Given the description of an element on the screen output the (x, y) to click on. 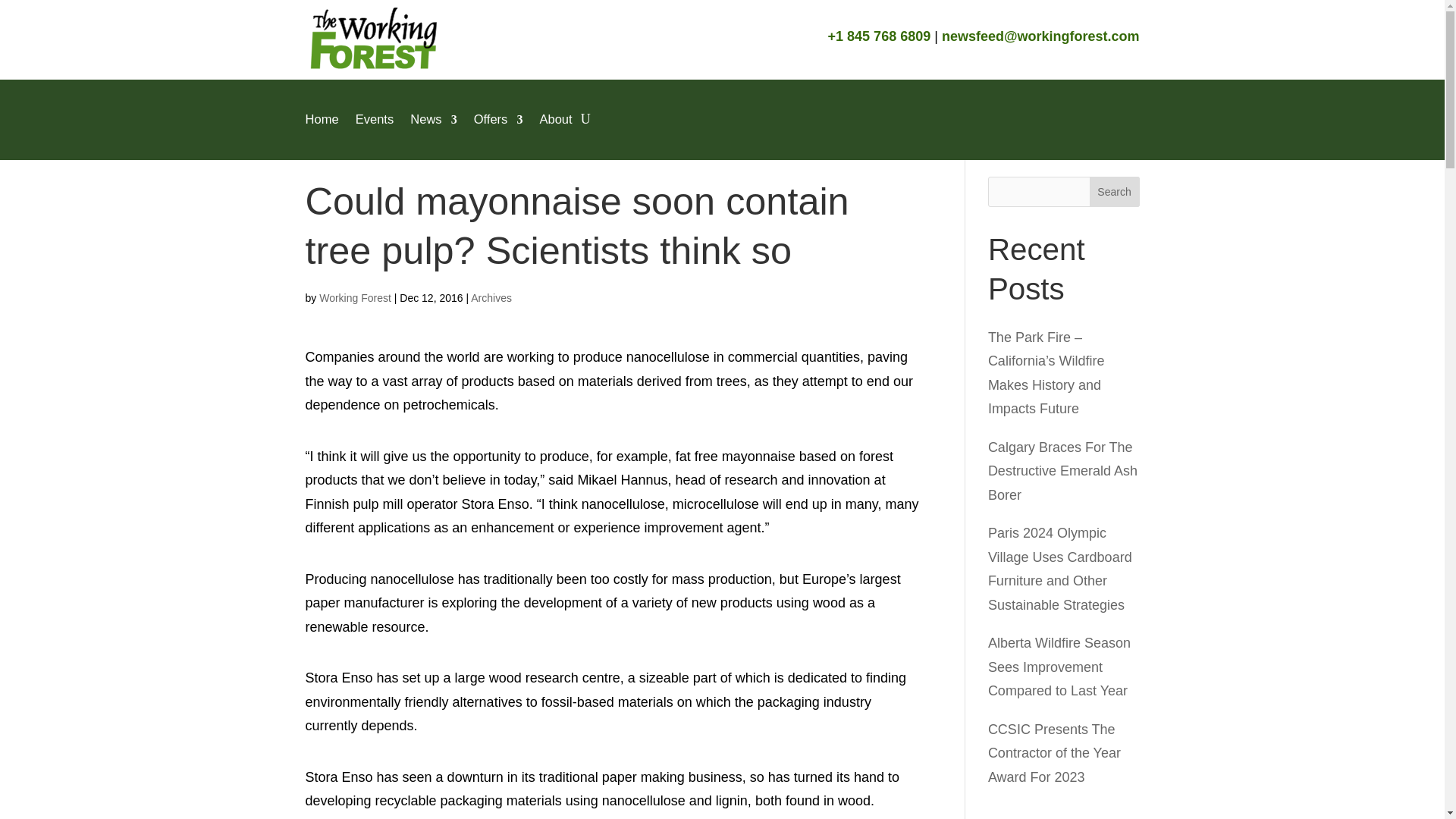
Posts by Working Forest (354, 297)
